Given the description of an element on the screen output the (x, y) to click on. 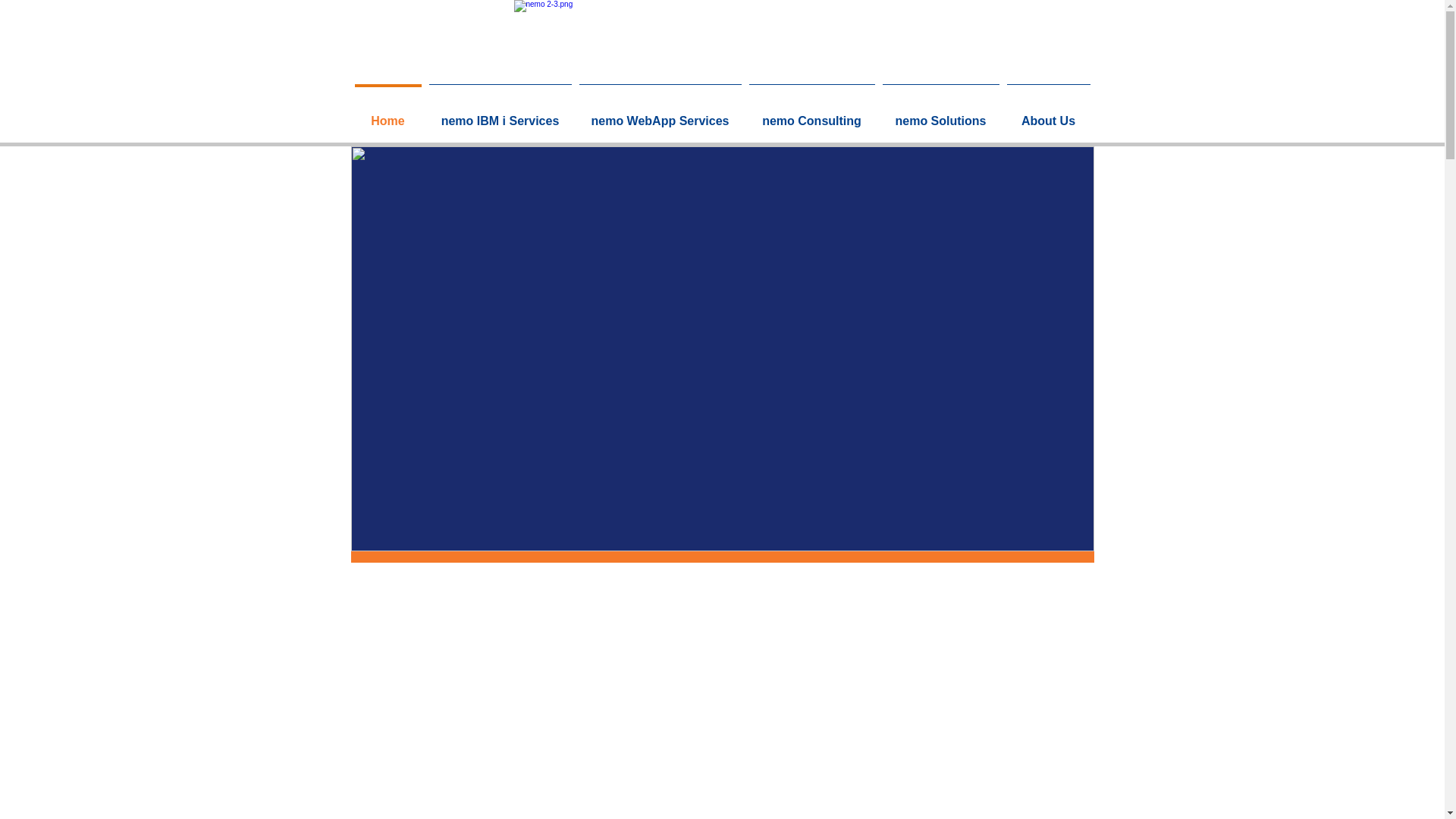
nemo IBM i Services (500, 114)
nemo WebApp Services (659, 114)
nemo Solutions (940, 114)
About Us (1048, 114)
nemo Consulting (810, 114)
Home (387, 114)
